Given the description of an element on the screen output the (x, y) to click on. 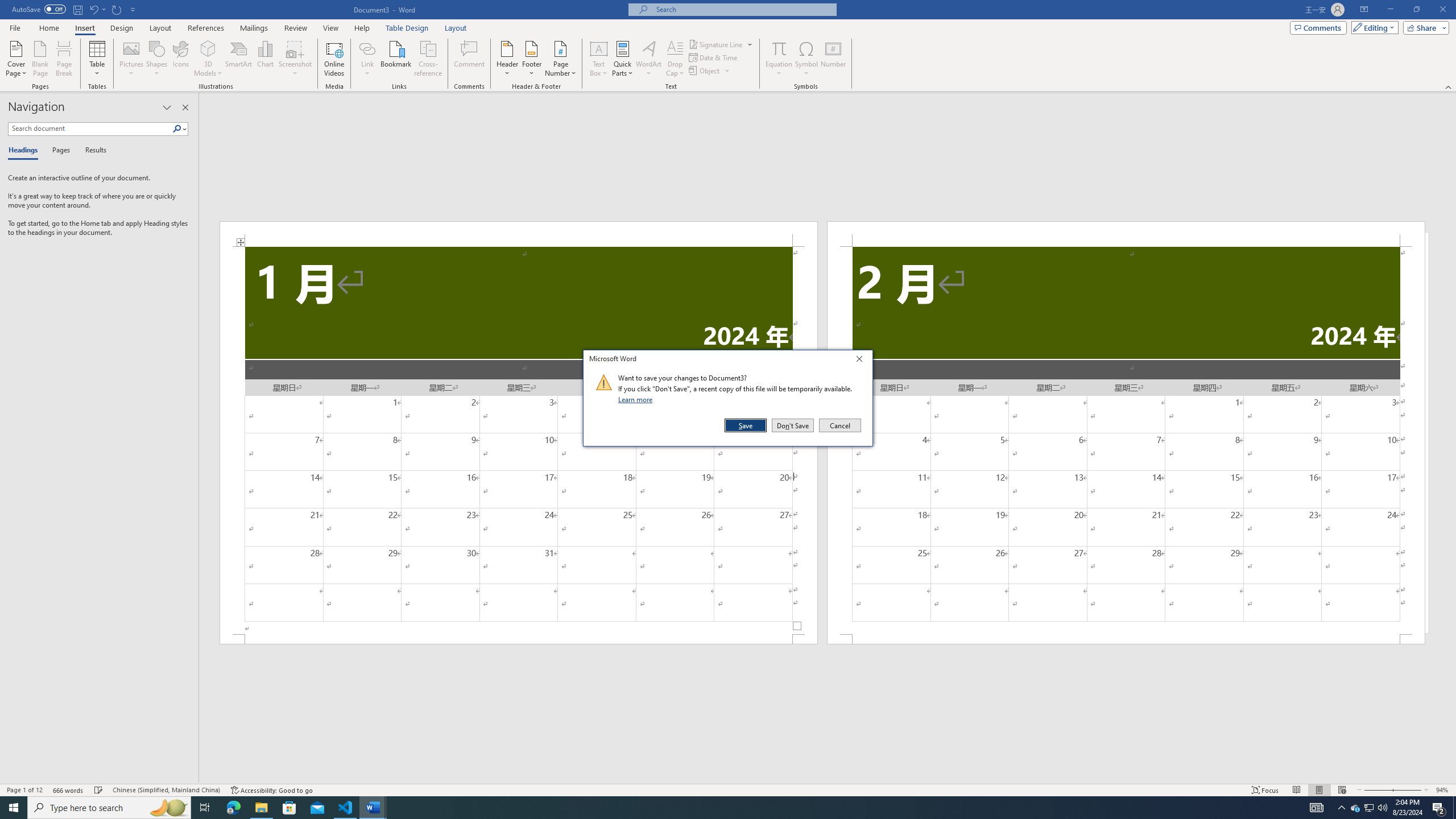
Signature Line (716, 44)
Page Number Page 1 of 12 (24, 790)
SmartArt... (238, 58)
WordArt (648, 58)
Header (507, 58)
